Given the description of an element on the screen output the (x, y) to click on. 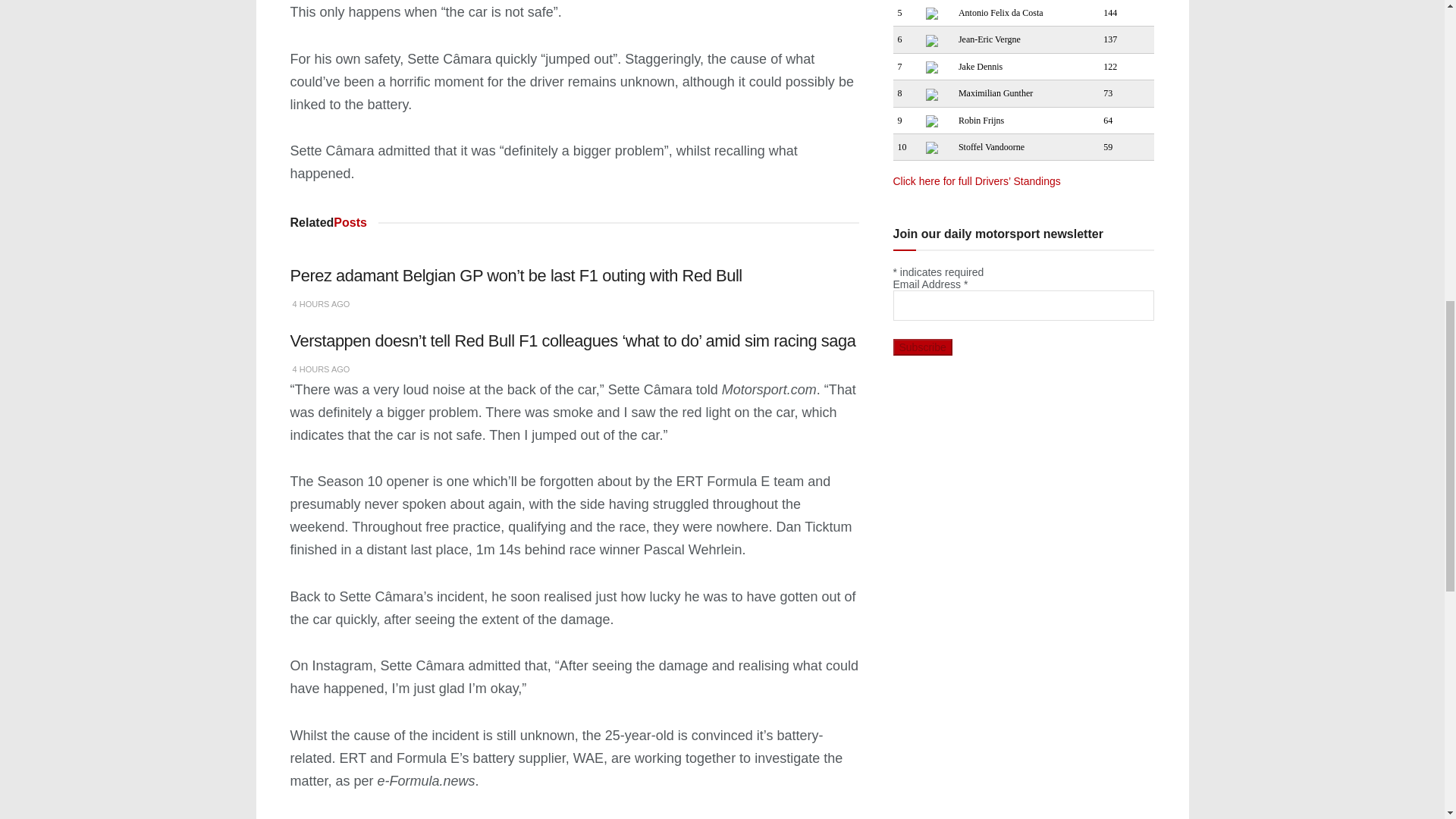
Subscribe (922, 347)
